Given the description of an element on the screen output the (x, y) to click on. 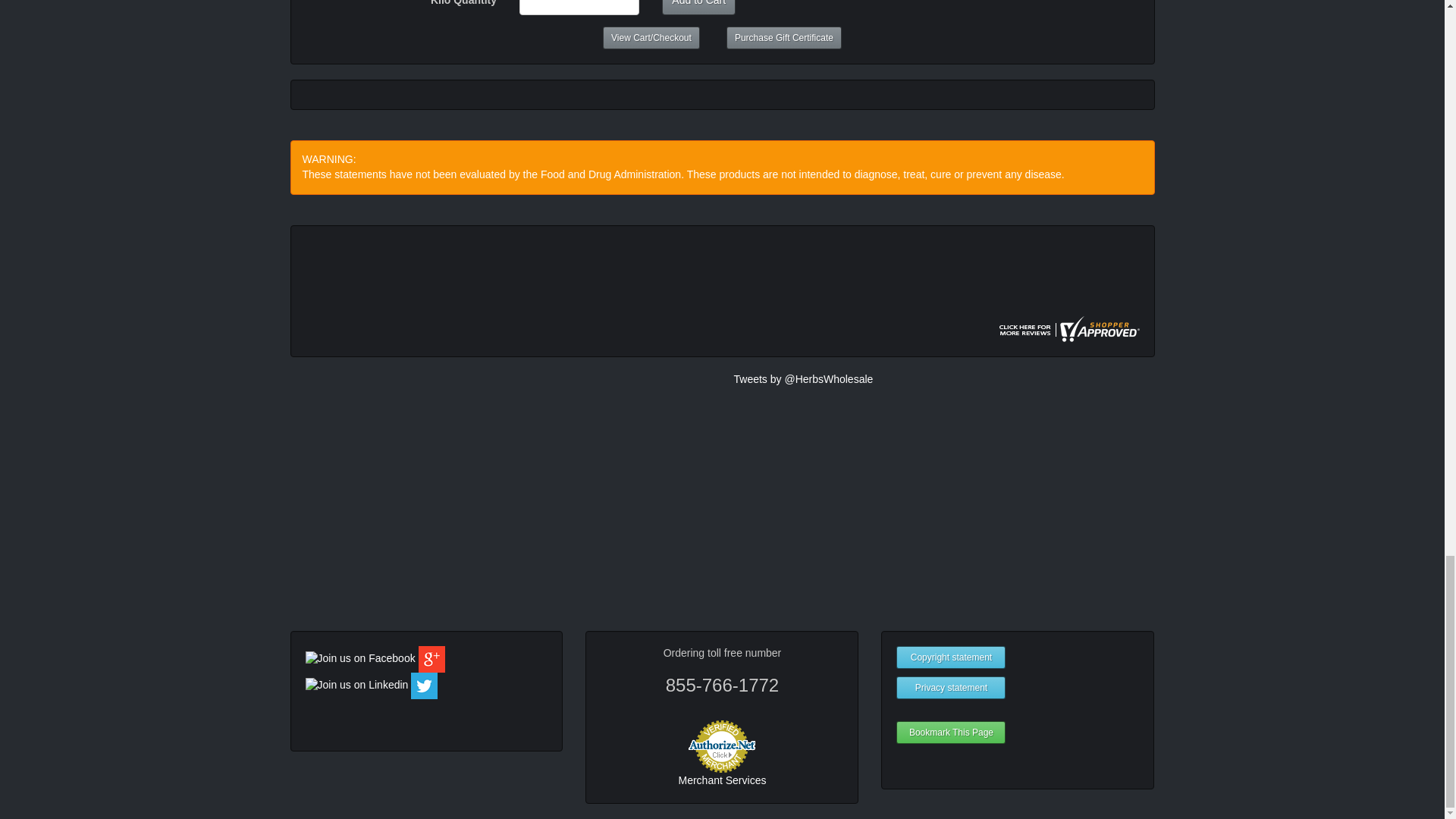
Copyright statement (951, 657)
Add to Cart (698, 7)
Add to Cart (698, 7)
Merchant Services (721, 779)
Bookmark This Page (951, 732)
Privacy statement (951, 687)
Purchase Gift Certificate (783, 37)
Bookmark This Page (951, 732)
